Given the description of an element on the screen output the (x, y) to click on. 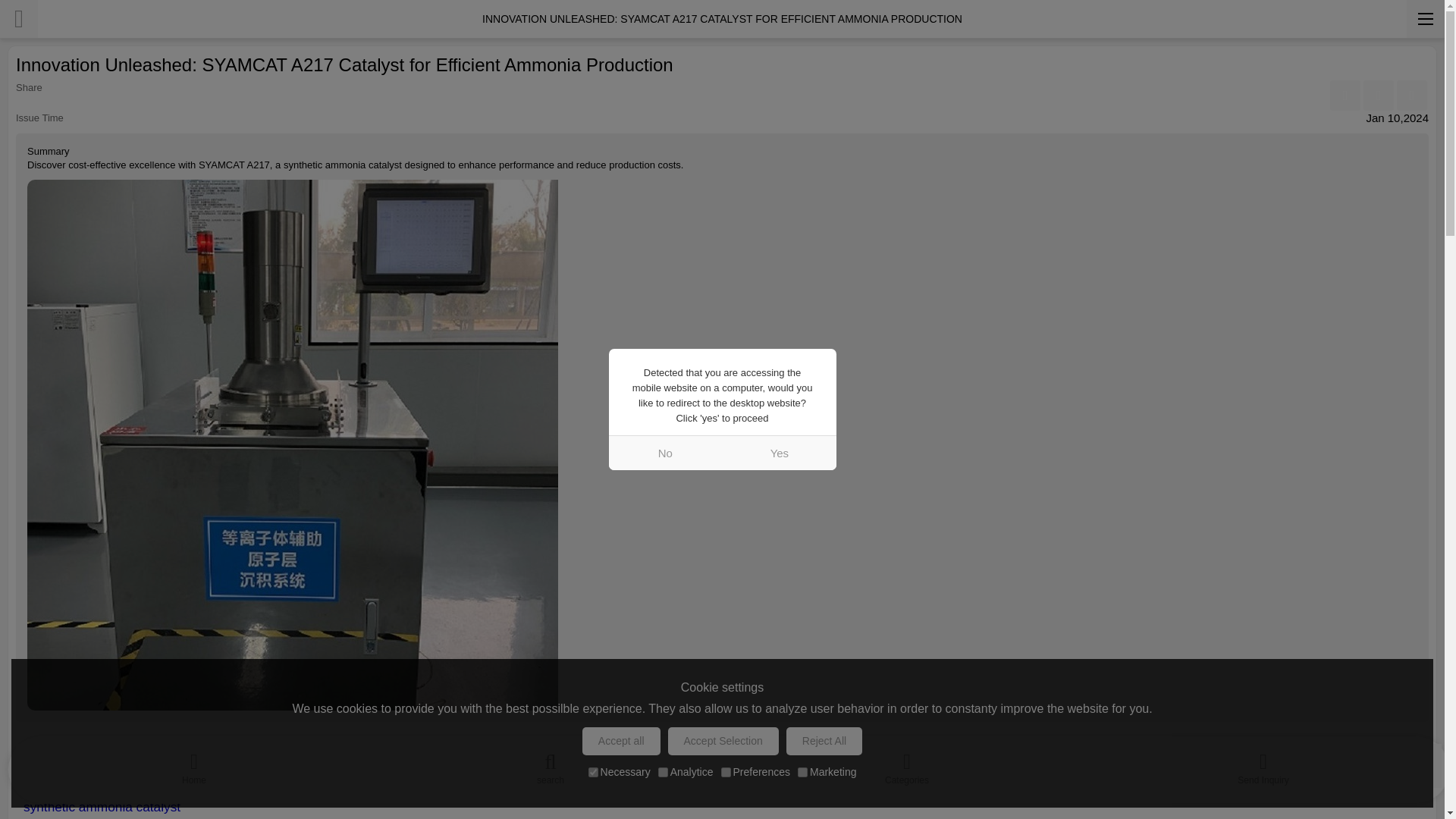
on (802, 772)
No (665, 452)
Return (18, 18)
Send Inquiry (1262, 765)
Accept all (621, 741)
Share Facebook (1344, 95)
Home (194, 765)
search (550, 765)
search (550, 765)
Share Linkedin (1377, 95)
Share Twitter (1411, 95)
Accept Selection (723, 741)
Home (194, 765)
Categories (906, 765)
Send Inquiry (1262, 765)
